Given the description of an element on the screen output the (x, y) to click on. 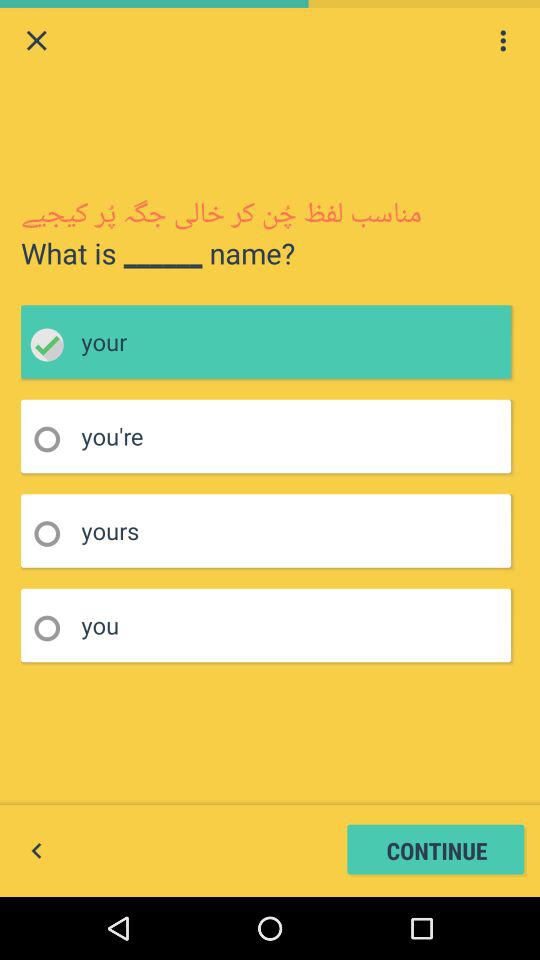
click to side menu option (503, 40)
